Given the description of an element on the screen output the (x, y) to click on. 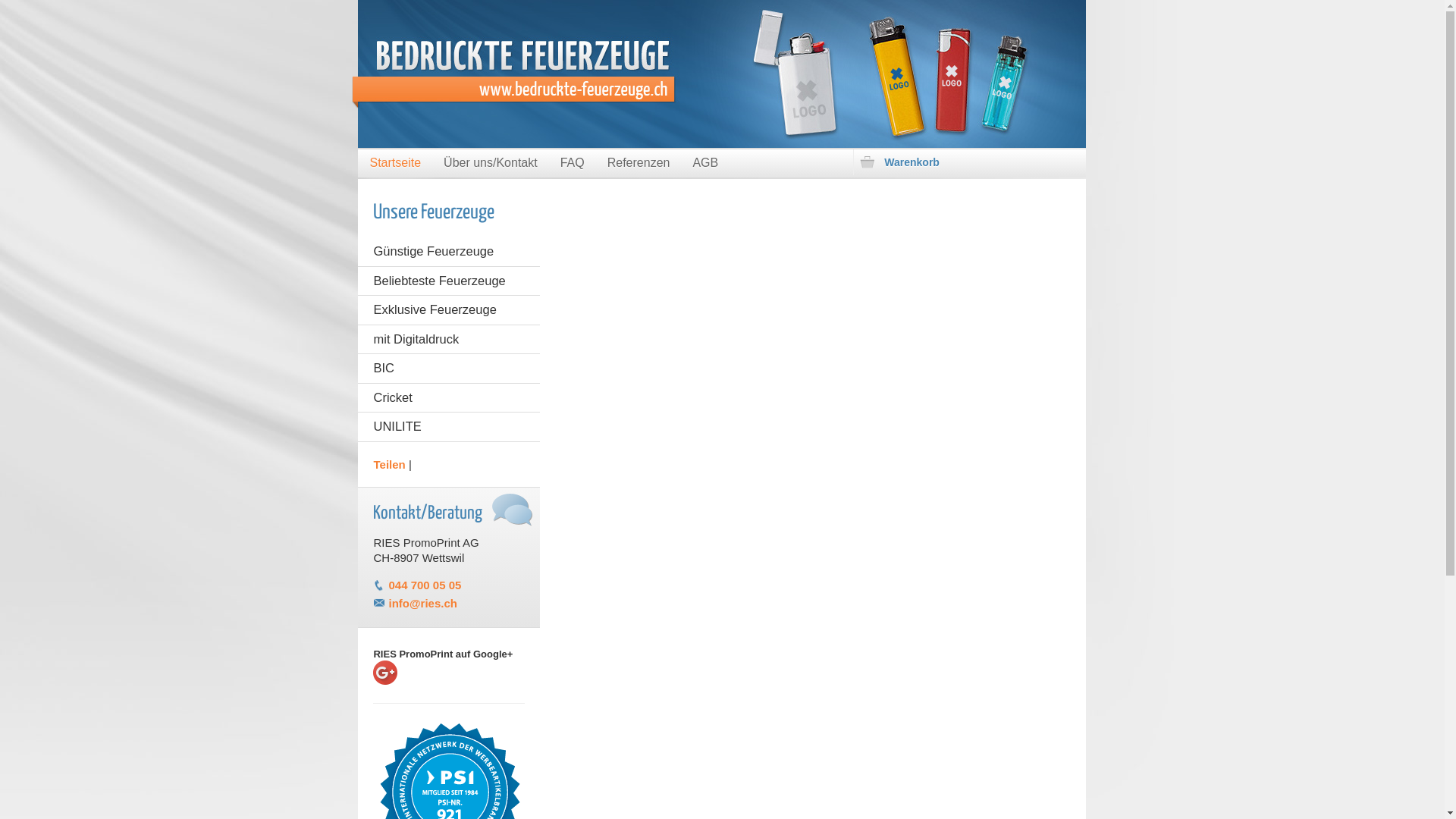
BIC Element type: text (448, 368)
RIES PromoPrint auf Google+ Element type: text (448, 683)
Cricket Element type: text (448, 397)
UNILITE Element type: text (448, 426)
FAQ Element type: text (572, 163)
Teilen Element type: text (388, 464)
Exklusive Feuerzeuge Element type: text (448, 309)
Warenkorb Element type: text (966, 162)
AGB Element type: text (704, 163)
044 700 05 05 Element type: text (424, 584)
mit Digitaldruck Element type: text (448, 339)
Startseite Element type: text (394, 163)
Beliebteste Feuerzeuge Element type: text (448, 280)
Referenzen Element type: text (638, 163)
info@ries.ch Element type: text (422, 602)
